Given the description of an element on the screen output the (x, y) to click on. 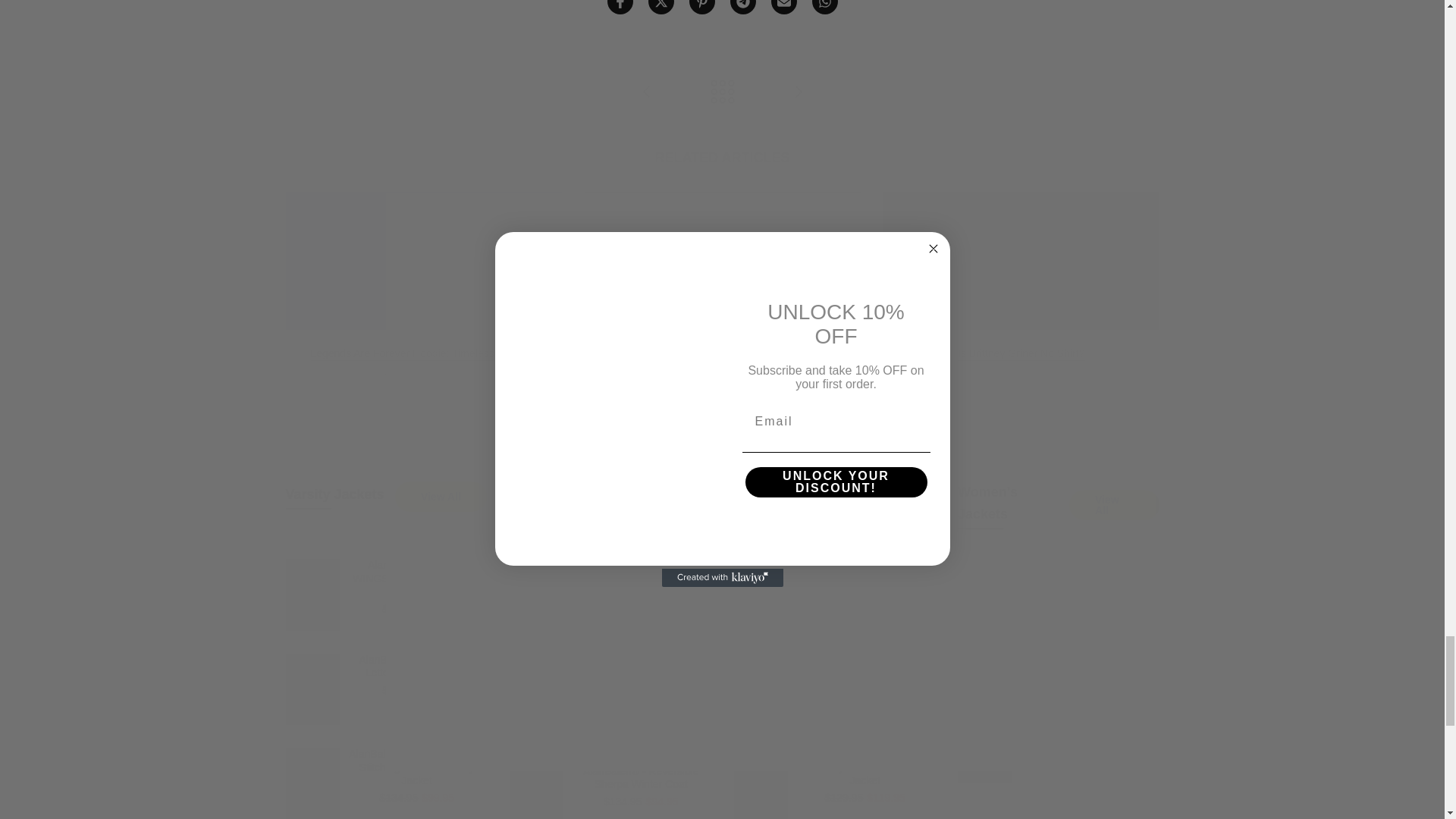
Share on Twitter (659, 7)
Share on Telegram (742, 7)
Kangaroo Pocket Drop Shoulder Hoodie: Relaxed Trend (797, 92)
Share on Email (783, 7)
Back to Tops (722, 92)
Share on Pinterest (701, 7)
Share on Facebook (619, 7)
Share on WhatsApp (823, 7)
Karma Is A Cat Hoodie: Whimsical Wisdom (646, 92)
